Given the description of an element on the screen output the (x, y) to click on. 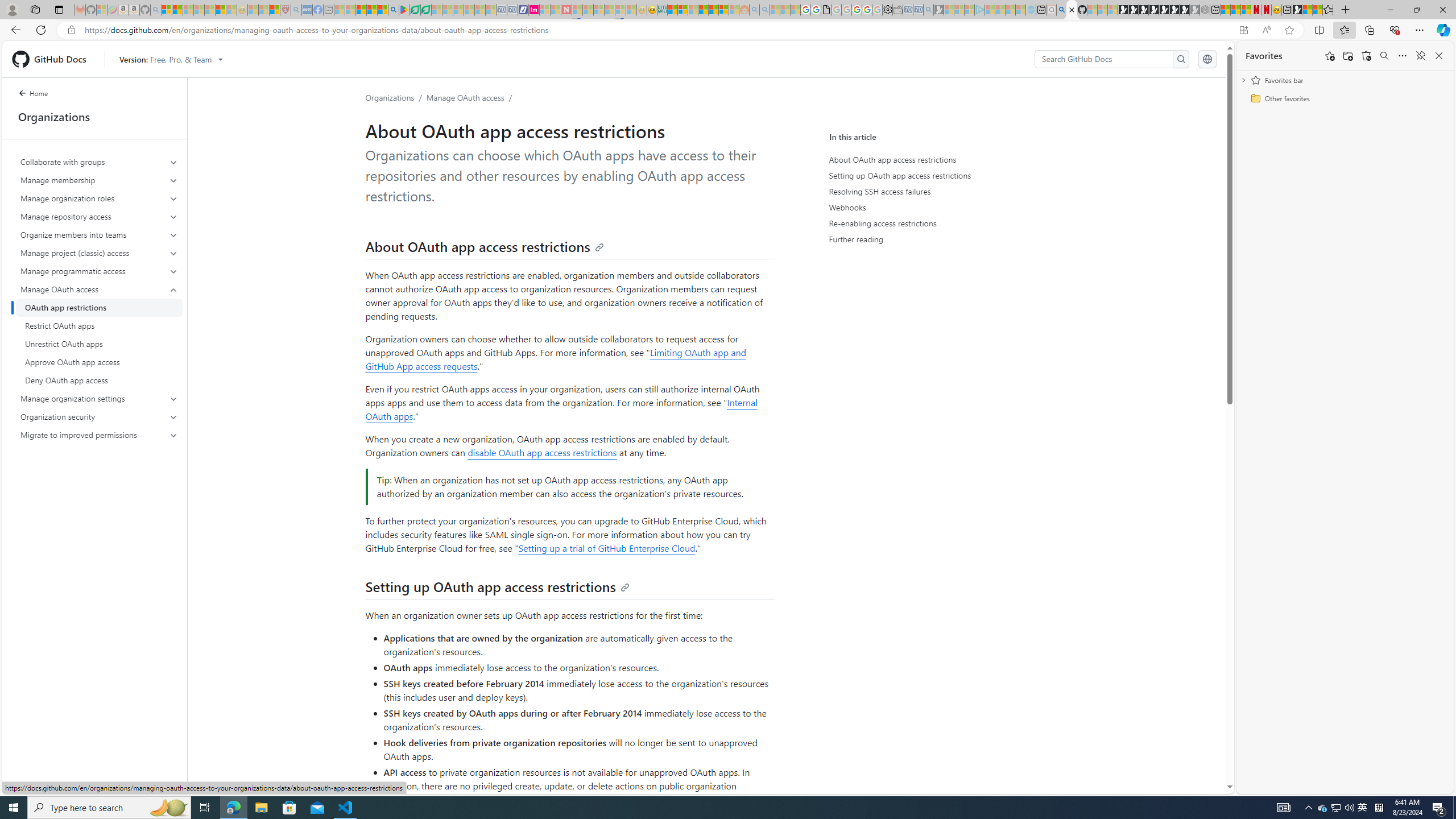
Manage organization settings (99, 398)
Terms of Use Agreement (414, 9)
Close favorites (1439, 55)
Microsoft Word - consumer-privacy address update 2.2021 (426, 9)
